Given the description of an element on the screen output the (x, y) to click on. 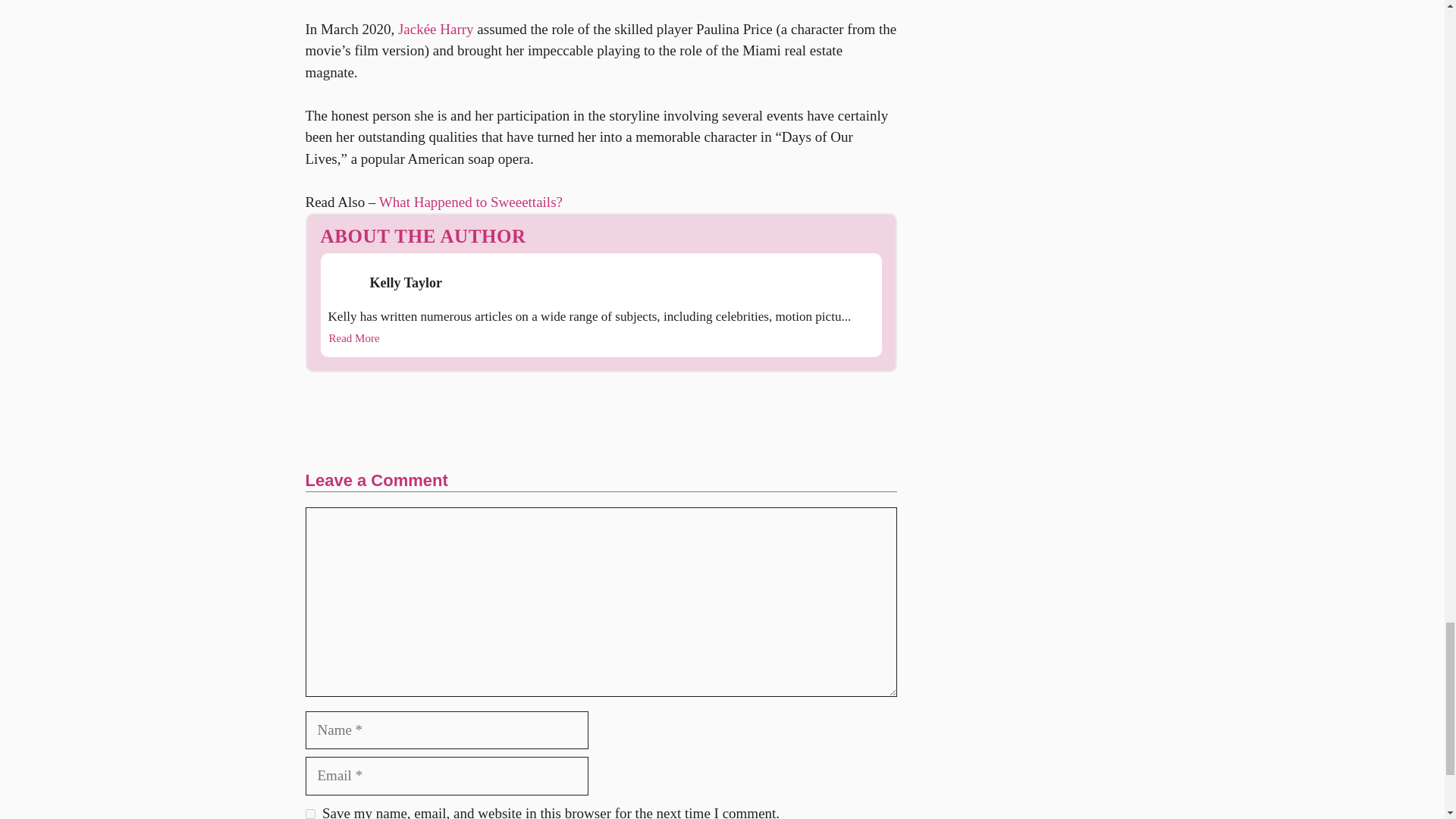
yes (309, 814)
